Given the description of an element on the screen output the (x, y) to click on. 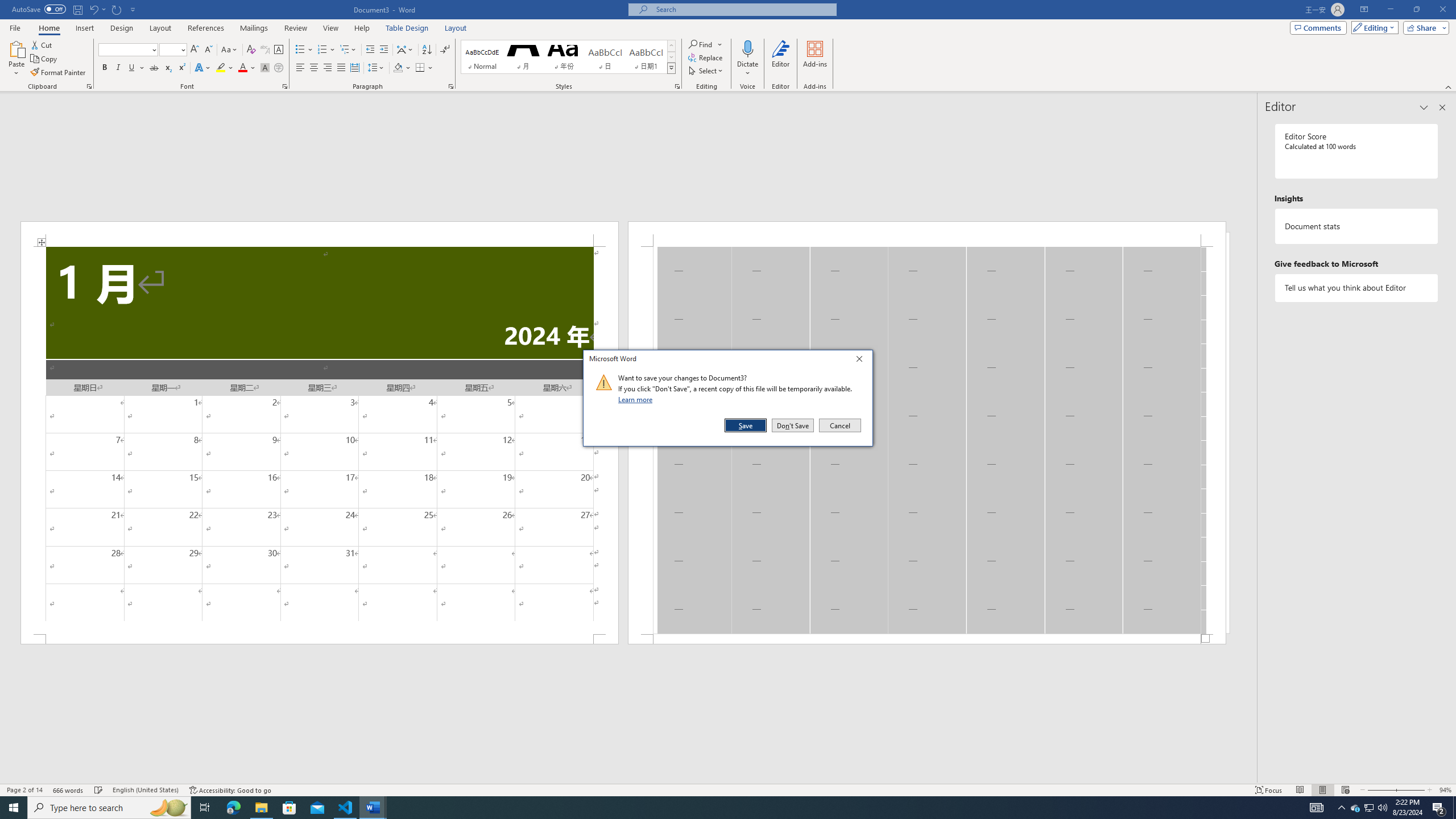
Italic (118, 67)
Zoom In (1410, 790)
Show desktop (1454, 807)
Action Center, 2 new notifications (1439, 807)
Font... (285, 85)
Strikethrough (154, 67)
Class: MsoCommandBar (728, 789)
Word - 2 running windows (373, 807)
Text Highlight Color (224, 67)
Underline (136, 67)
Phonetic Guide... (264, 49)
Justify (340, 67)
Font Size (172, 49)
Table Design (407, 28)
